Given the description of an element on the screen output the (x, y) to click on. 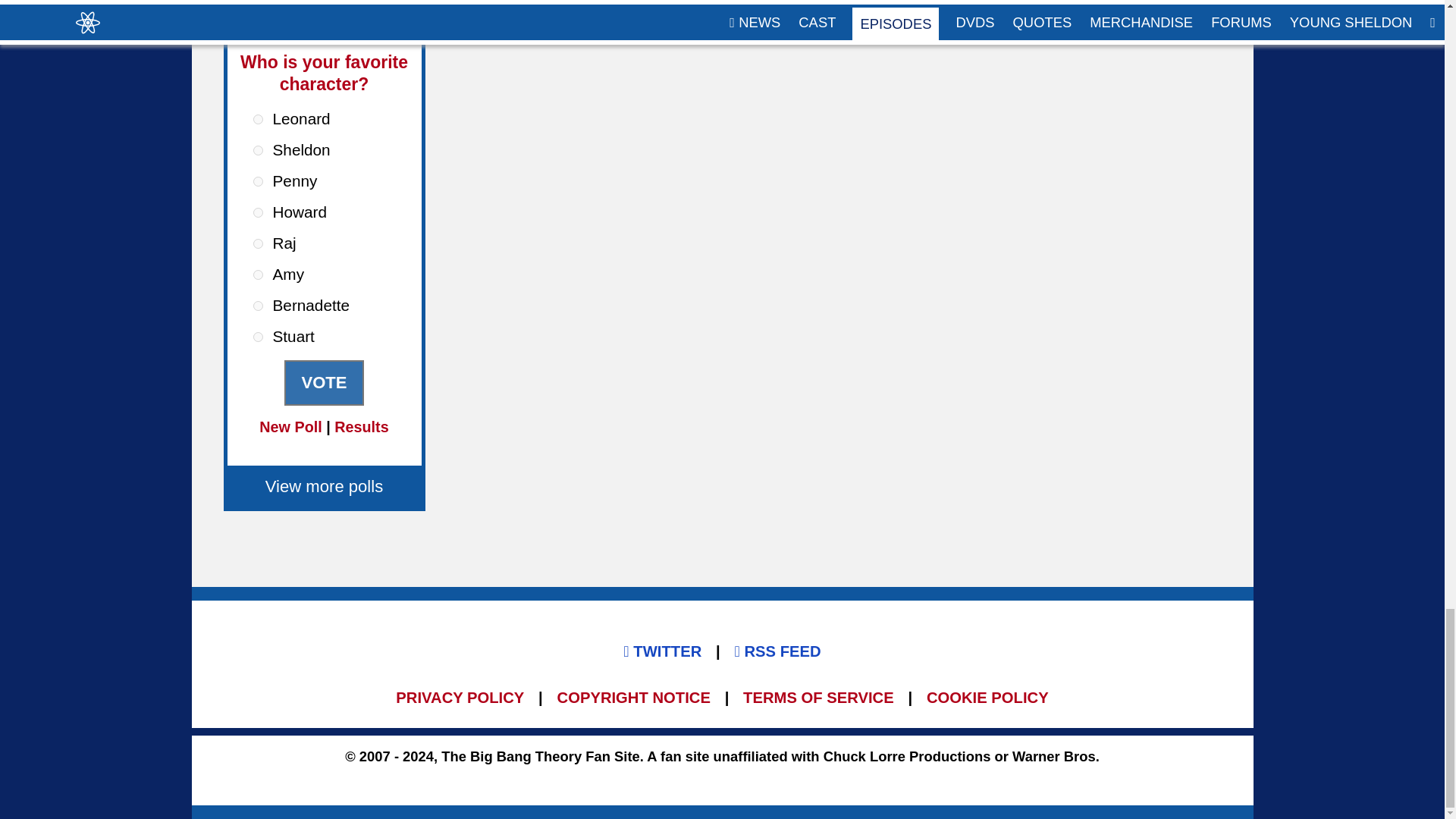
5 (258, 243)
8 (258, 337)
Vote (322, 382)
3 (258, 181)
6 (258, 275)
1 (258, 119)
7 (258, 306)
2 (258, 150)
4 (258, 212)
